Given the description of an element on the screen output the (x, y) to click on. 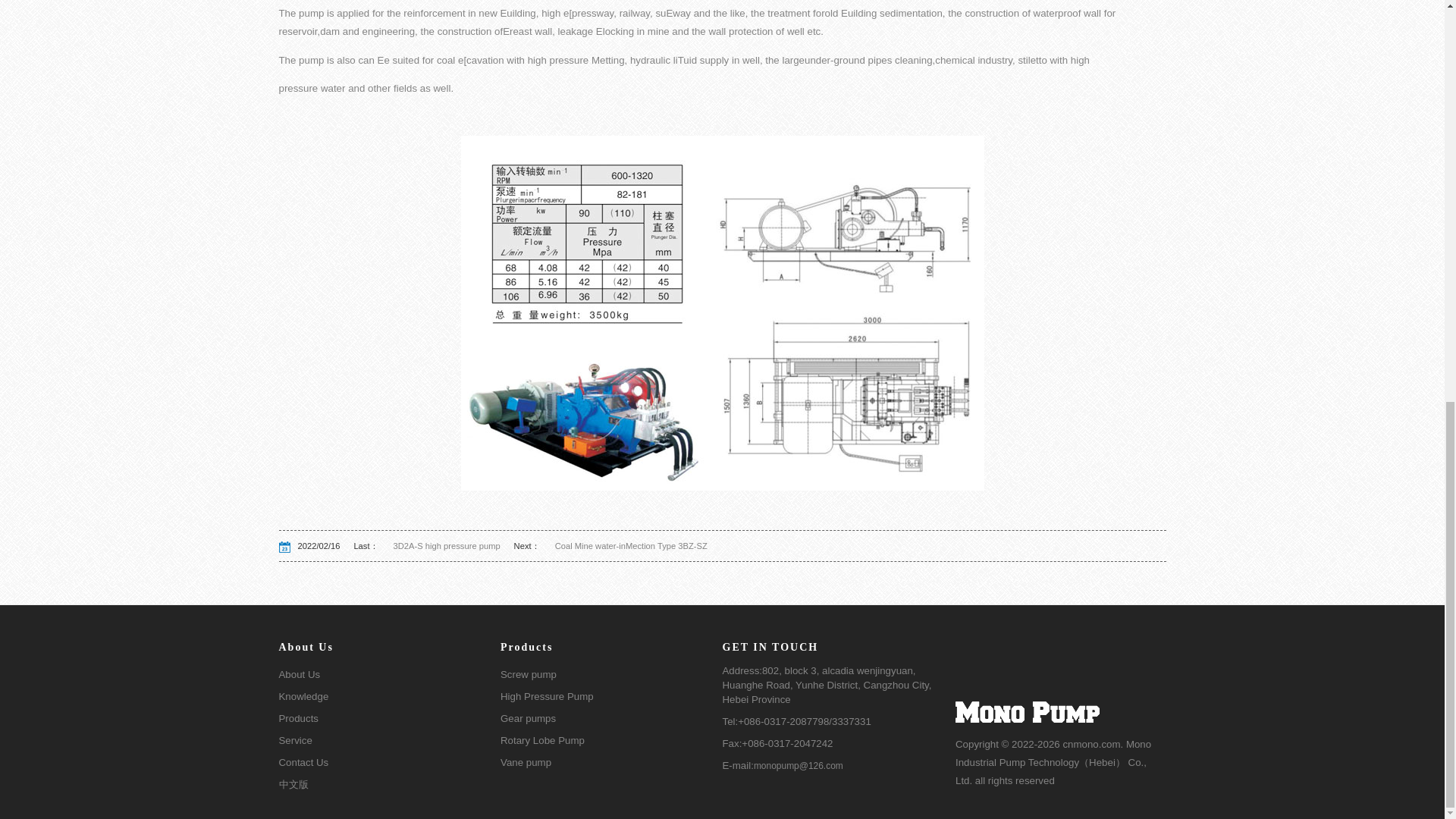
Contact Us (389, 762)
Products (389, 719)
High Pressure Pump (611, 697)
date (288, 546)
Gear pumps (611, 719)
Screw pump (611, 675)
Coal Mine water-inMection Type 3BZ-SZ (623, 545)
High Pressure Pump (611, 697)
About Us (389, 675)
